Given the description of an element on the screen output the (x, y) to click on. 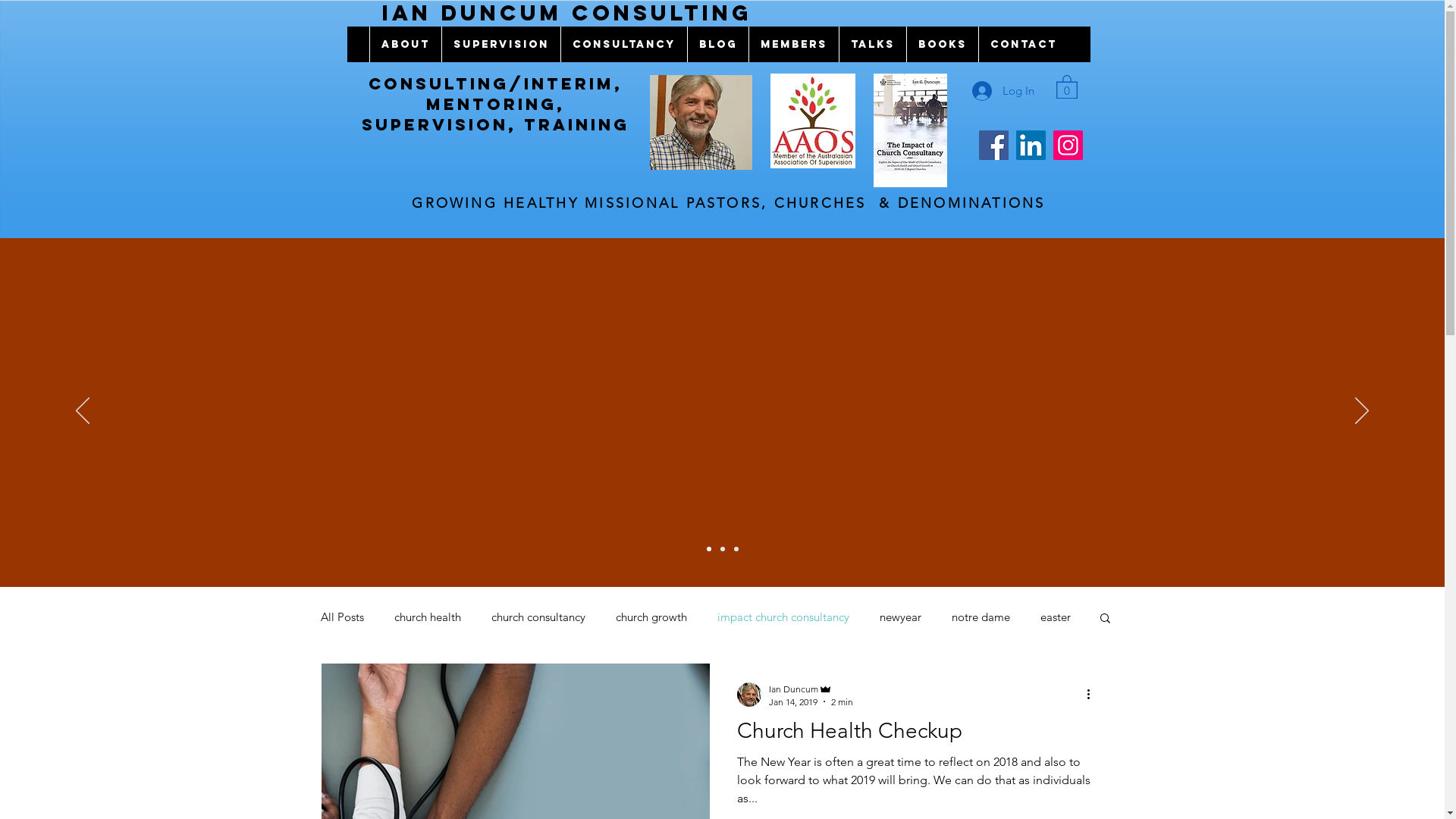
Contact Element type: text (1023, 44)
Consulting/interim, Mentoring, Supervision, Training Element type: text (495, 103)
Church Health Checkup Element type: text (916, 734)
0 Element type: text (1065, 85)
Ian Duncum Element type: text (810, 688)
Consultancy Element type: text (622, 44)
Blog Element type: text (717, 44)
newyear Element type: text (900, 616)
easter Element type: text (1055, 616)
BOOKS Element type: text (941, 44)
MEMBERS Element type: text (792, 44)
All Posts Element type: text (341, 616)
Log In Element type: text (1002, 89)
Talks Element type: text (872, 44)
notre dame Element type: text (979, 616)
church health Element type: text (427, 616)
impact church consultancy Element type: text (783, 616)
About Element type: text (404, 44)
church consultancy Element type: text (538, 616)
SUPERVISION Element type: text (500, 44)
church growth Element type: text (651, 616)
